Given the description of an element on the screen output the (x, y) to click on. 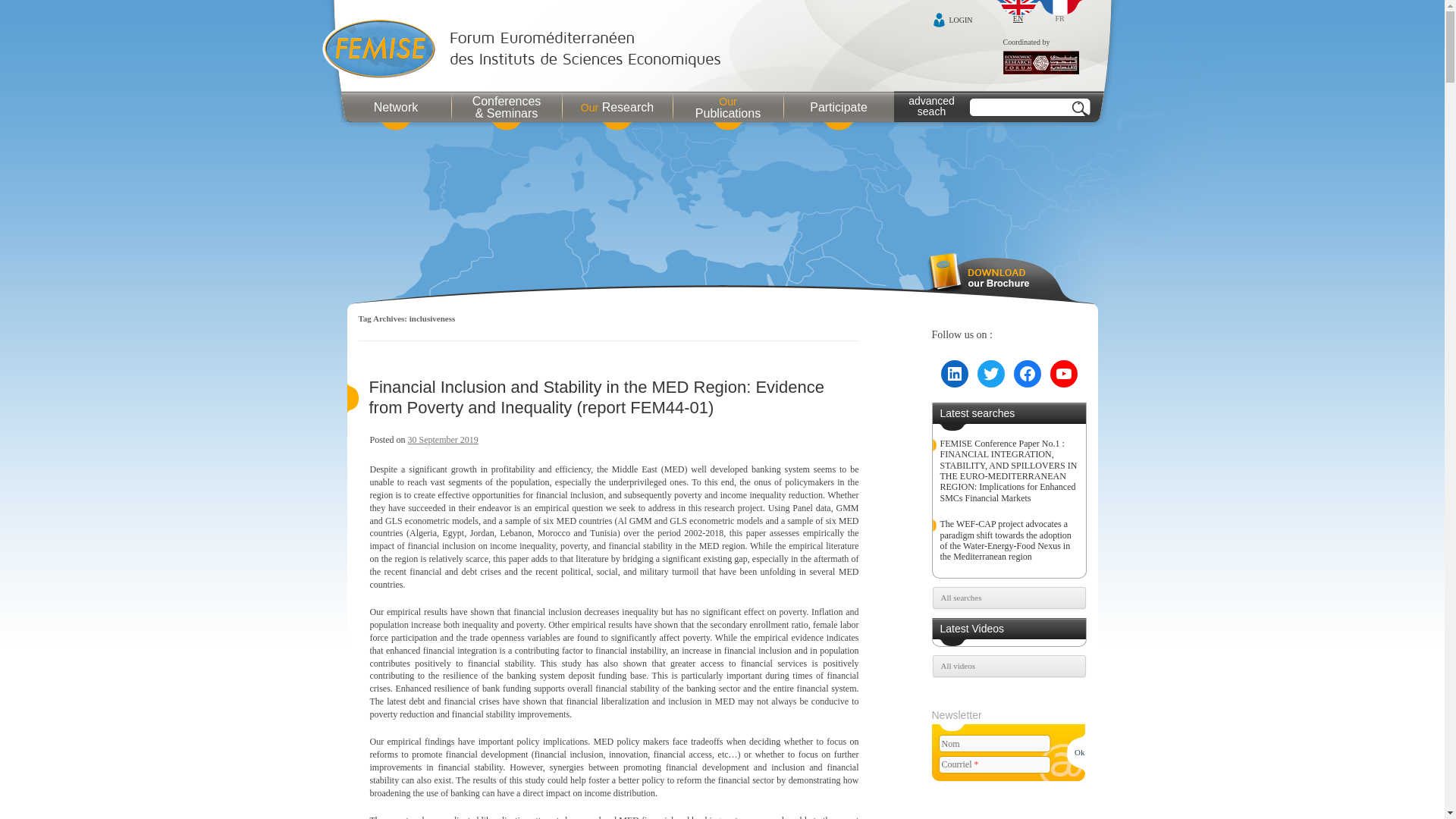
Our Research (617, 106)
Network (395, 106)
EN (1017, 11)
FR (1059, 11)
Network (395, 106)
Economic Research Forum (1040, 63)
Femise (525, 50)
LOGIN (952, 20)
Participate (838, 106)
Our Publications (727, 106)
Login (952, 20)
Our Research (617, 106)
